Given the description of an element on the screen output the (x, y) to click on. 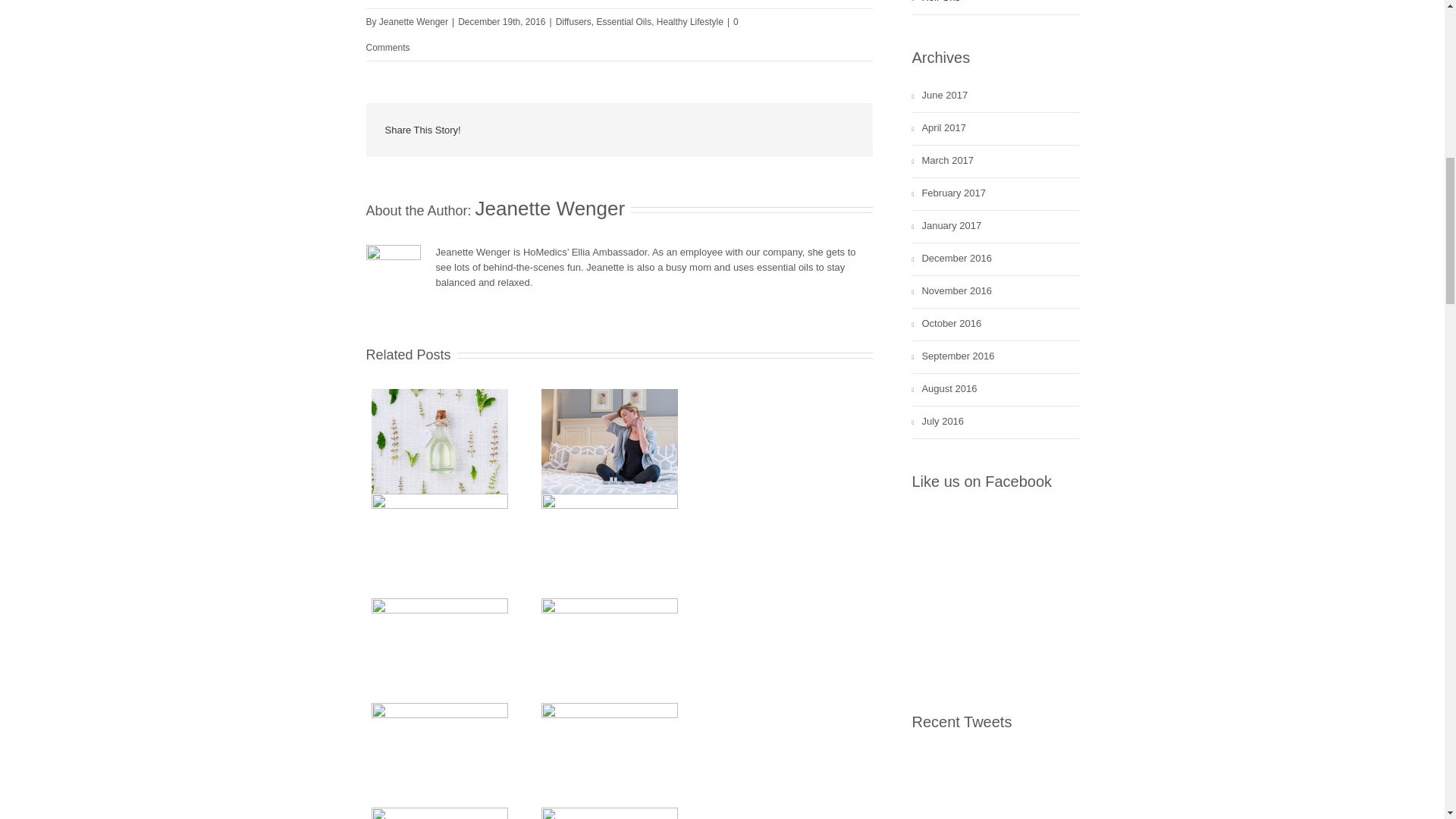
Essential Oils (622, 21)
Posts by Jeanette Wenger (413, 21)
Jeanette Wenger (551, 208)
Diffusers (573, 21)
0 Comments (551, 34)
Posts by Jeanette Wenger (551, 208)
Reddit (700, 129)
Healthy Lifestyle (689, 21)
Jeanette Wenger (413, 21)
LinkedIn (666, 129)
Email (842, 131)
Tumblr (735, 130)
